Given the description of an element on the screen output the (x, y) to click on. 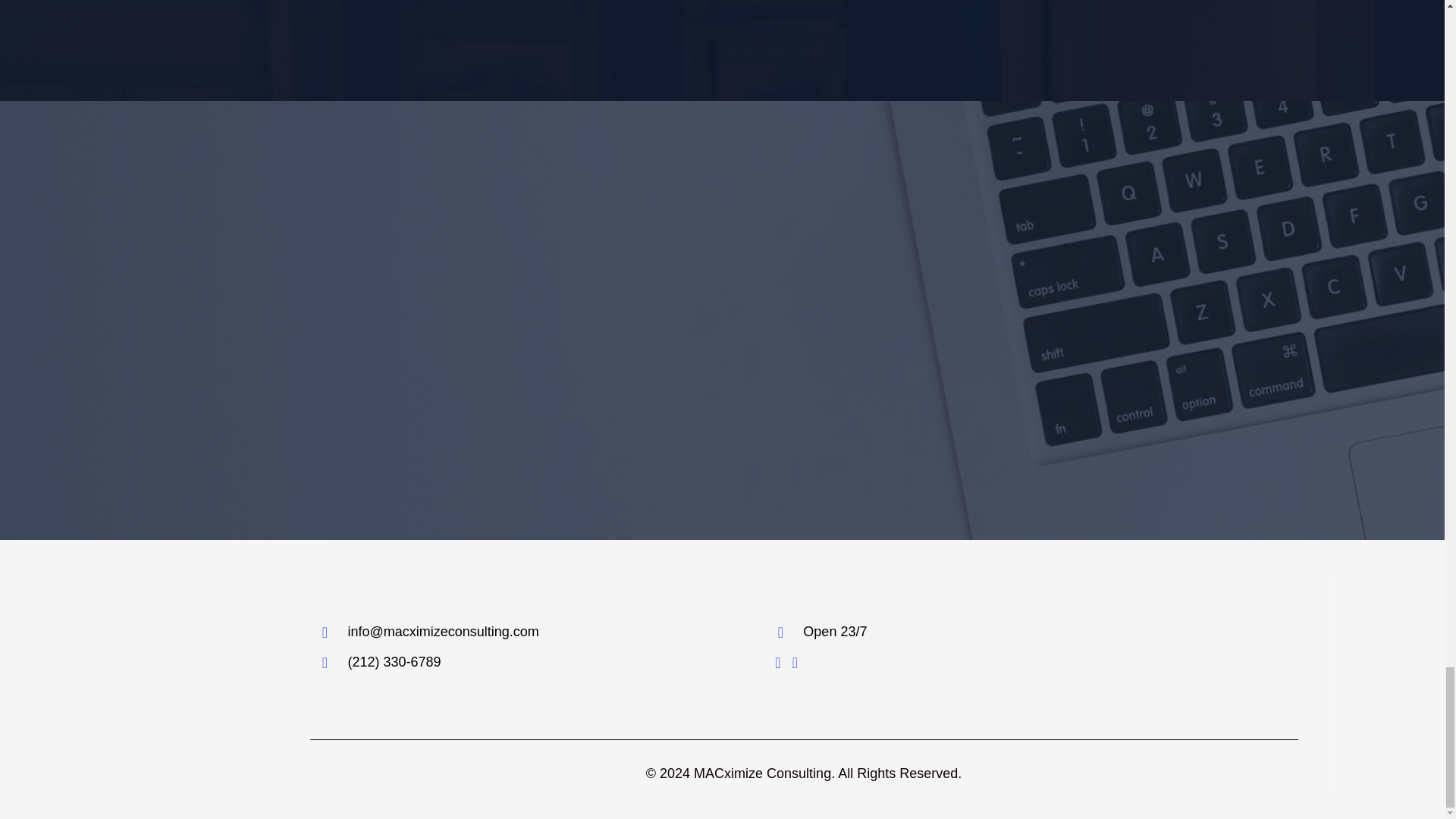
MACx Rainbow Logo transparent (197, 683)
Apple Consultants Network Badge (1161, 646)
Submit (719, 446)
